Given the description of an element on the screen output the (x, y) to click on. 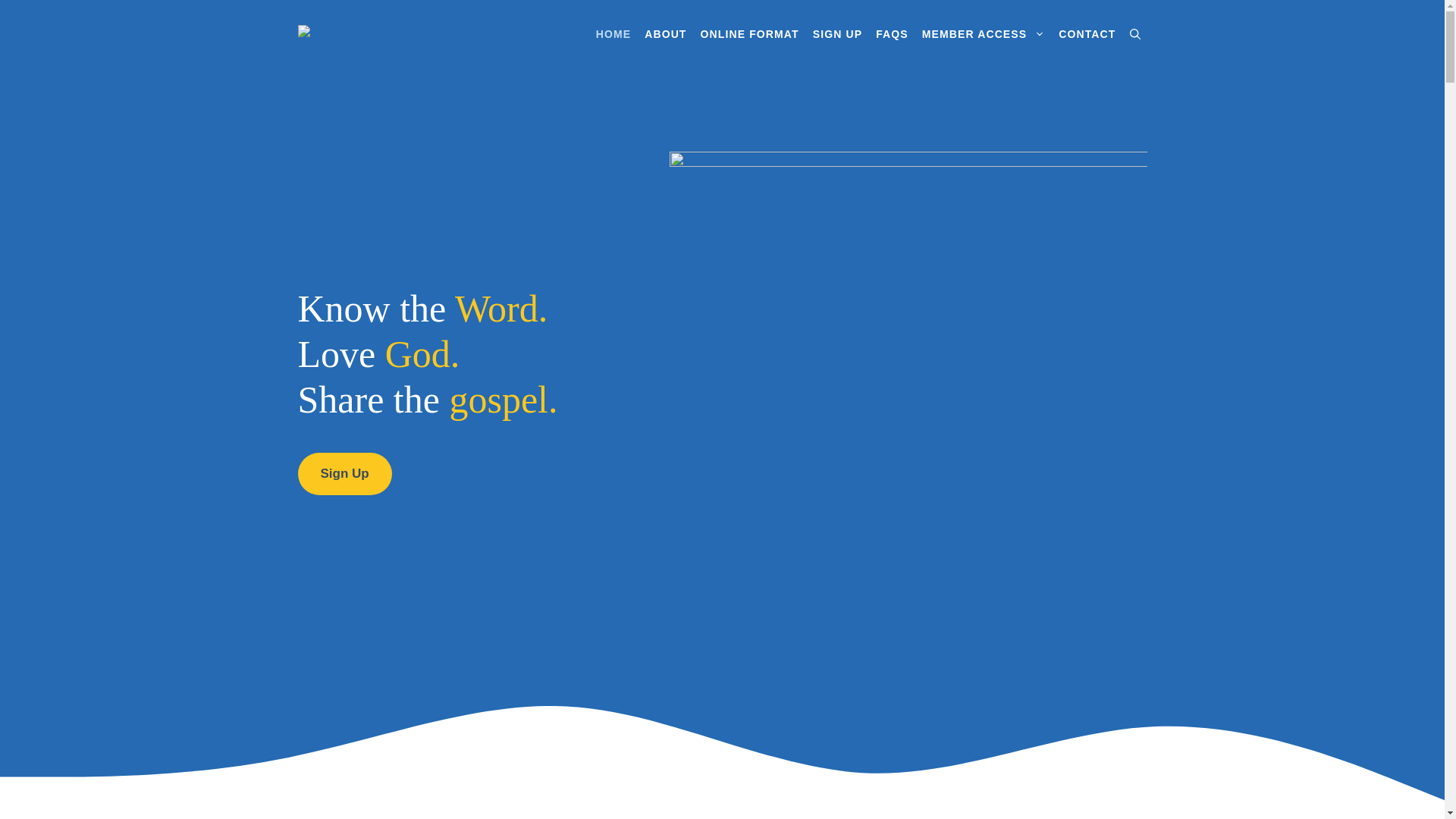
FAQS Element type: text (892, 34)
HOME Element type: text (613, 34)
primary-illustration Element type: hover (907, 390)
ONLINE FORMAT Element type: text (749, 34)
CONTACT Element type: text (1086, 34)
MEMBER ACCESS Element type: text (983, 34)
SIGN UP Element type: text (837, 34)
ABOUT Element type: text (665, 34)
Sign Up Element type: text (344, 473)
